Given the description of an element on the screen output the (x, y) to click on. 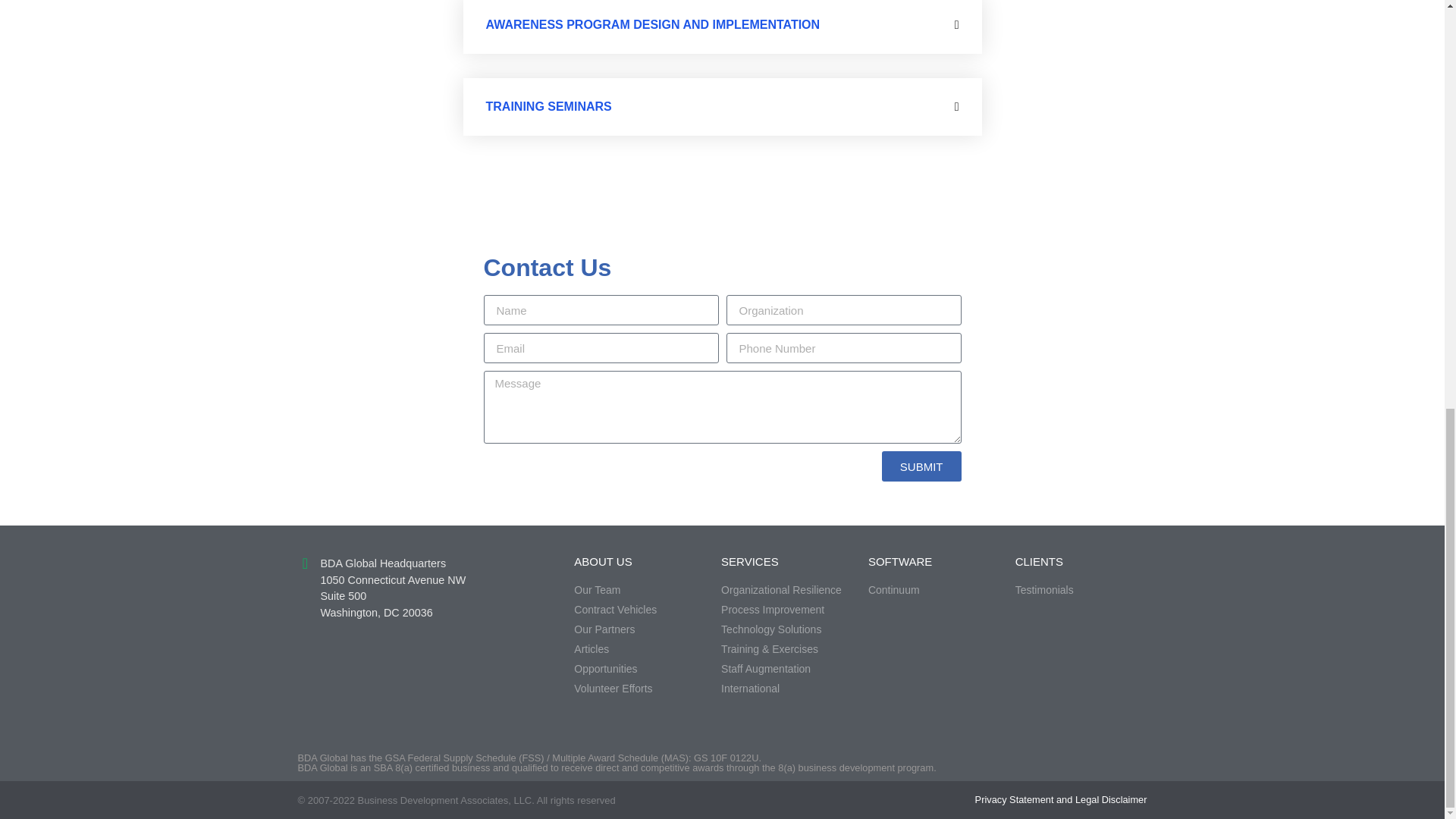
1050 Connecticut Avenue NW, BDA Global (401, 677)
